Given the description of an element on the screen output the (x, y) to click on. 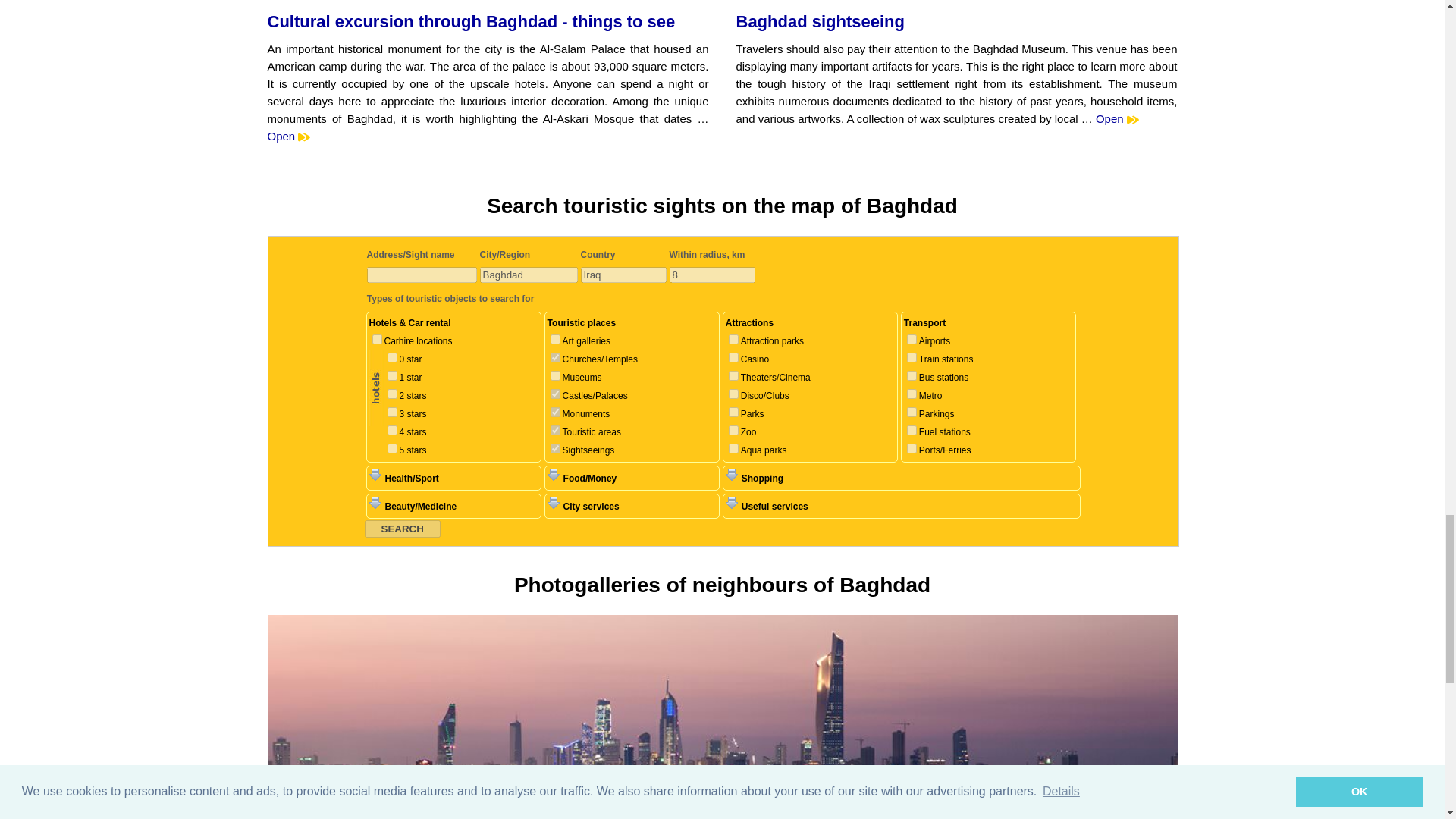
8 (711, 274)
4 (555, 393)
373 (391, 411)
372 (391, 393)
35 (376, 338)
2 (555, 411)
374 (391, 429)
370 (391, 357)
10 (555, 375)
371 (391, 375)
7 (555, 338)
Search (401, 528)
Baghdad (527, 274)
Iraq (623, 274)
8 (555, 357)
